Given the description of an element on the screen output the (x, y) to click on. 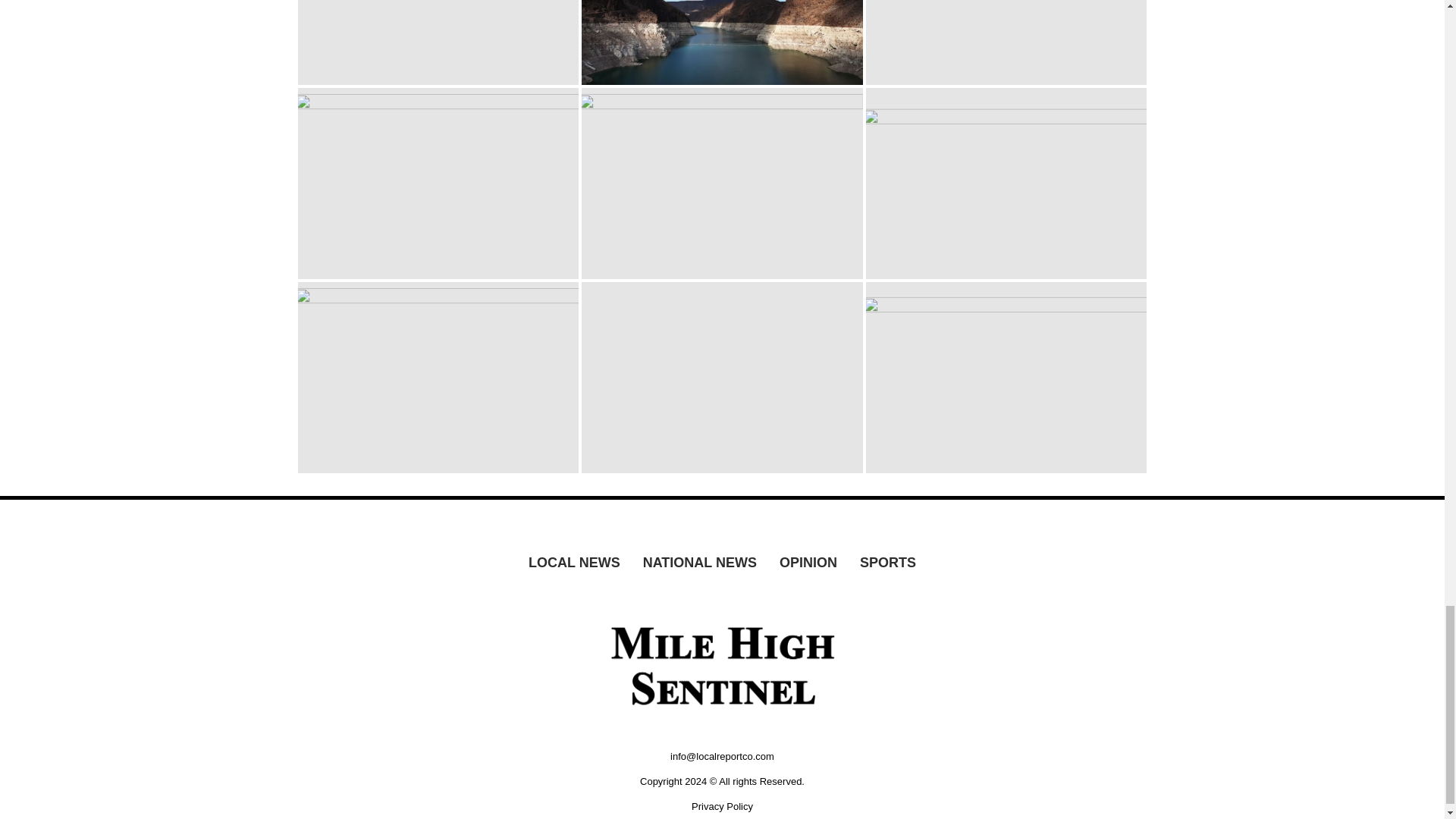
SPORTS (887, 562)
LOCAL NEWS (573, 562)
OPINION (808, 562)
NATIONAL NEWS (699, 562)
